Given the description of an element on the screen output the (x, y) to click on. 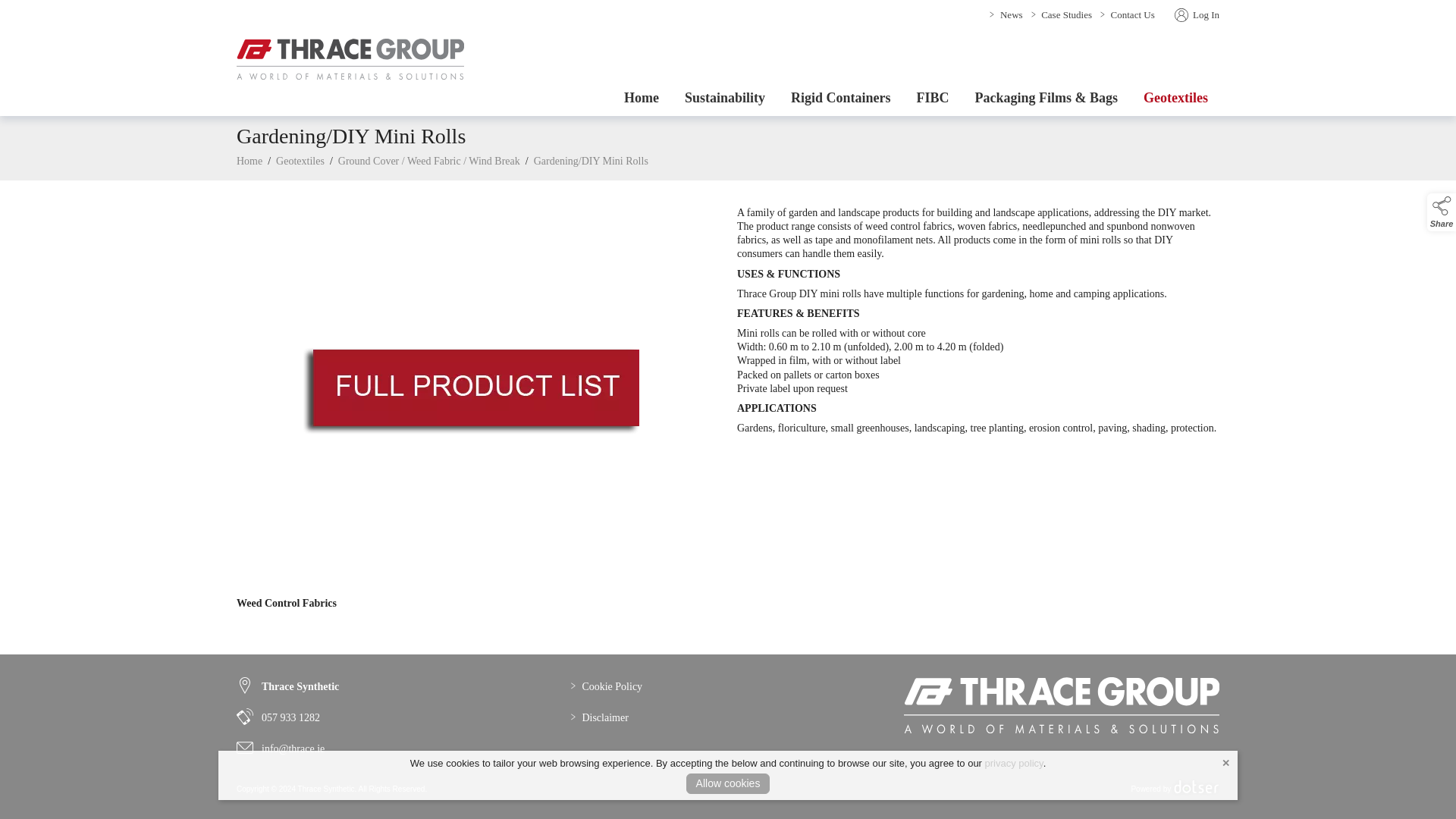
Rigid Containers (840, 98)
Sustainability (724, 98)
Log In (1193, 14)
FIBC (932, 98)
Home (640, 98)
